Given the description of an element on the screen output the (x, y) to click on. 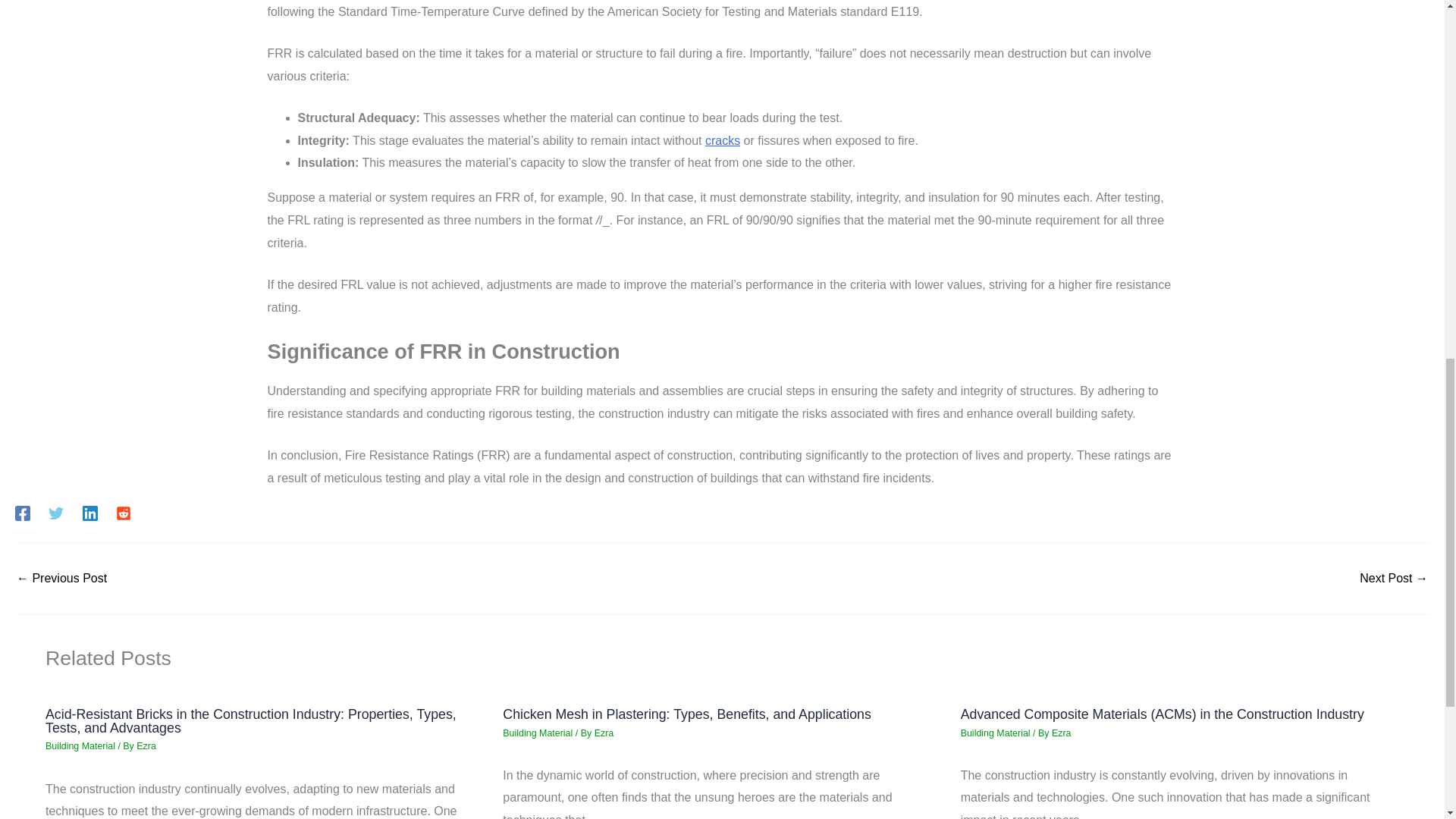
View all posts by Ezra (145, 746)
View all posts by Ezra (604, 733)
cracks (721, 140)
View all posts by Ezra (1061, 733)
